Given the description of an element on the screen output the (x, y) to click on. 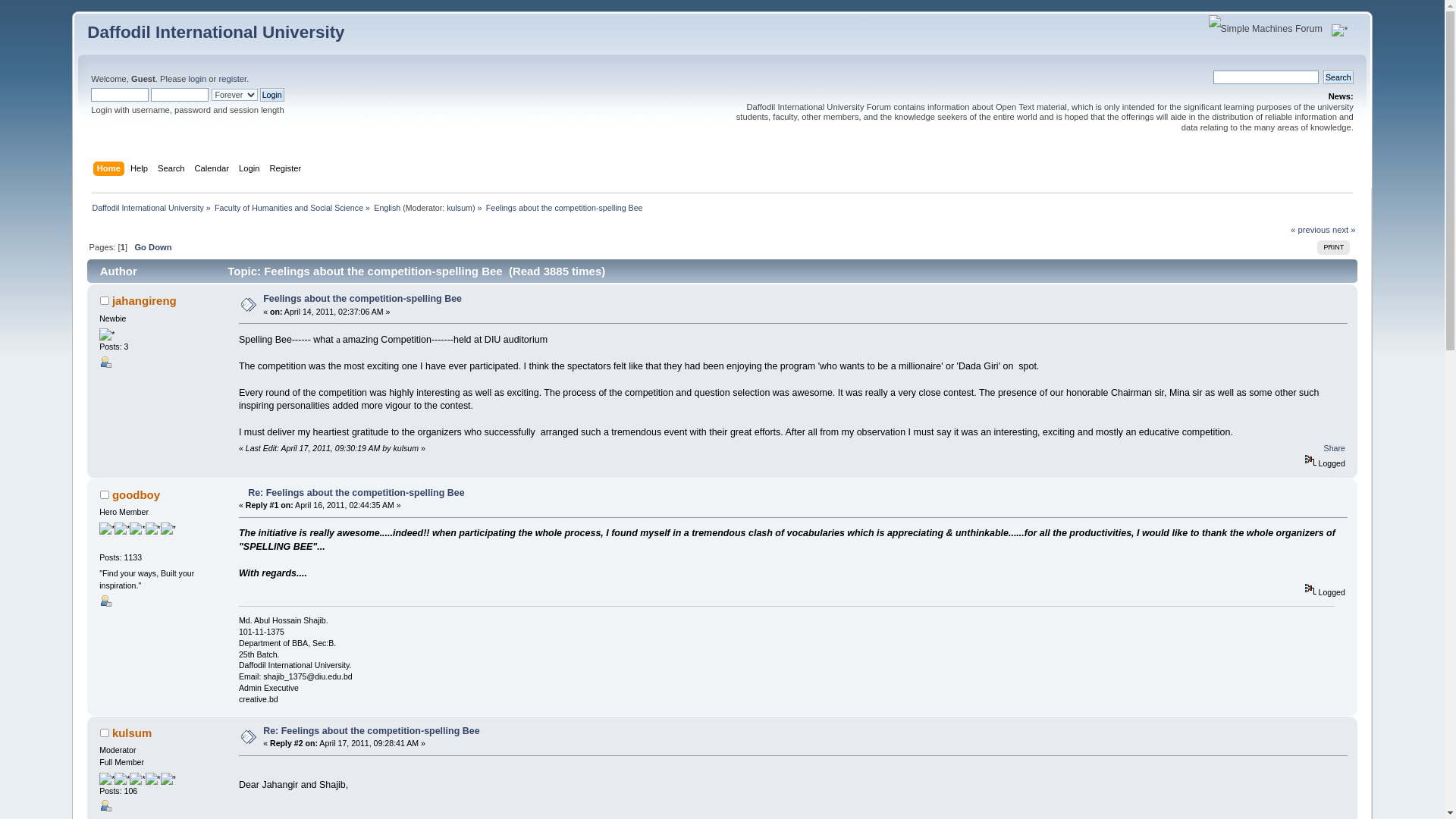
View Profile (105, 600)
Login (271, 94)
View the profile of kulsum (131, 732)
Feelings about the competition-spelling Bee (362, 298)
Home (110, 169)
English (387, 207)
Search (1338, 77)
Share (1334, 447)
Daffodil International University (215, 31)
Register (287, 169)
Search (1338, 77)
Shrink or expand the header. (1340, 30)
View the profile of jahangireng (144, 300)
View Profile (105, 805)
Re: Feelings about the competition-spelling Bee (371, 730)
